Given the description of an element on the screen output the (x, y) to click on. 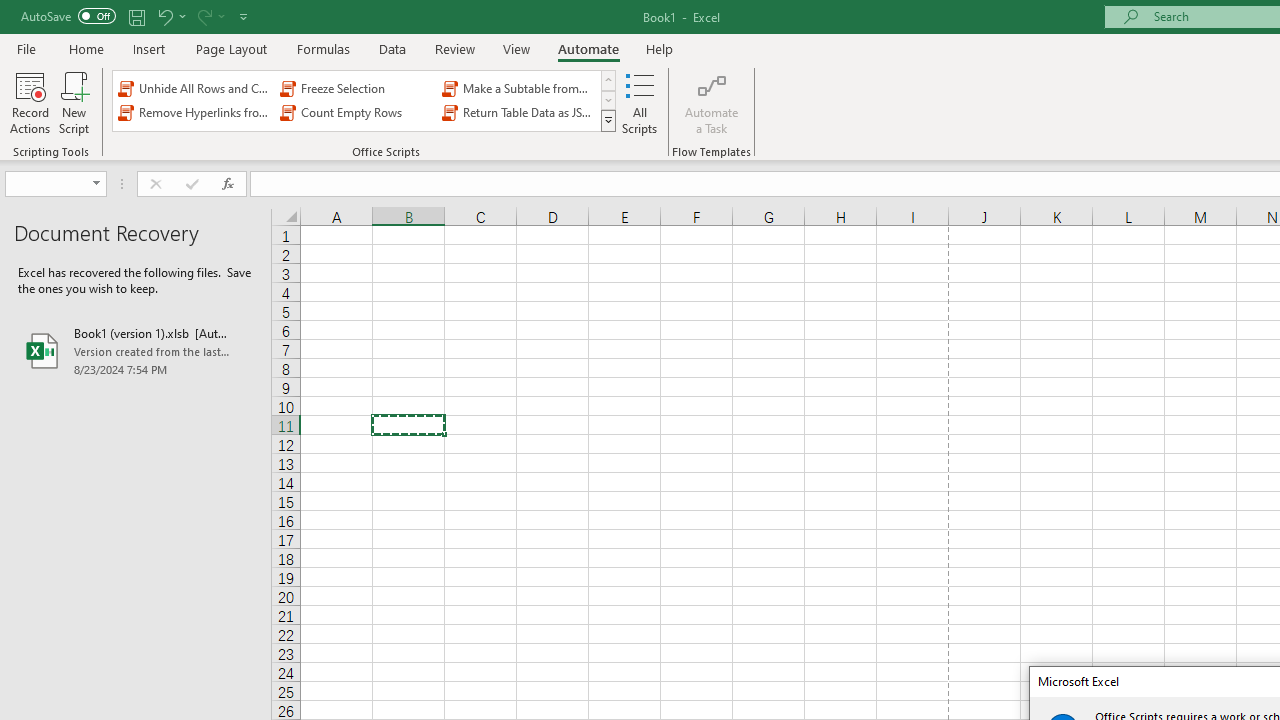
Office Scripts (608, 120)
Unhide All Rows and Columns (194, 88)
New Script (73, 102)
Return Table Data as JSON (518, 112)
